Given the description of an element on the screen output the (x, y) to click on. 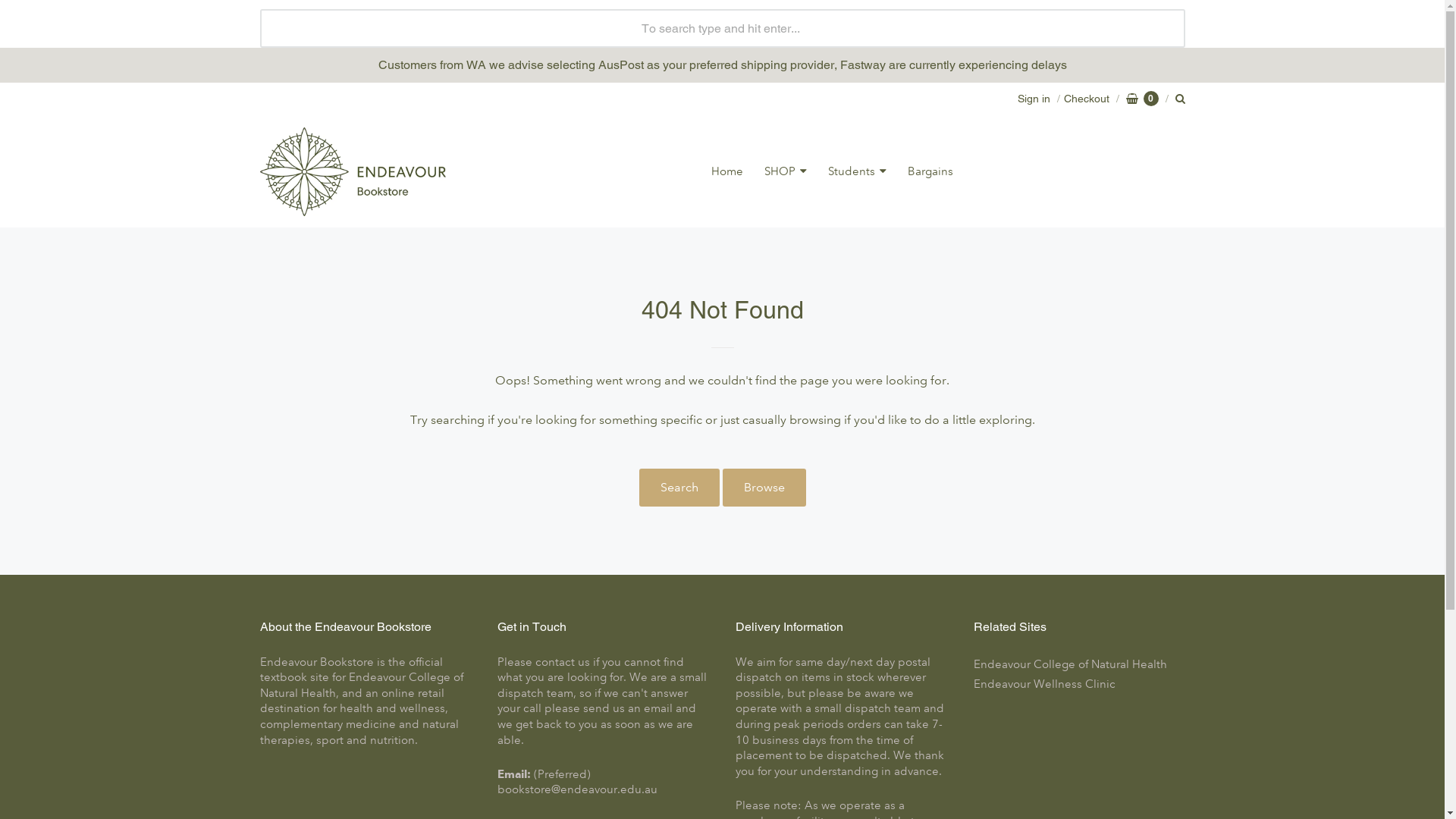
Endeavour Bookstore Element type: hover (352, 171)
Browse Element type: text (763, 487)
Endeavour Wellness Clinic Element type: text (1079, 684)
Students Element type: text (857, 171)
Endeavour College of Natural Health Element type: text (1079, 664)
Bargains Element type: text (930, 171)
Sign in Element type: text (1033, 98)
Search Element type: text (678, 487)
Home Element type: text (727, 171)
Checkout Element type: text (1081, 98)
SHOP Element type: text (785, 171)
0 Element type: text (1142, 98)
